Given the description of an element on the screen output the (x, y) to click on. 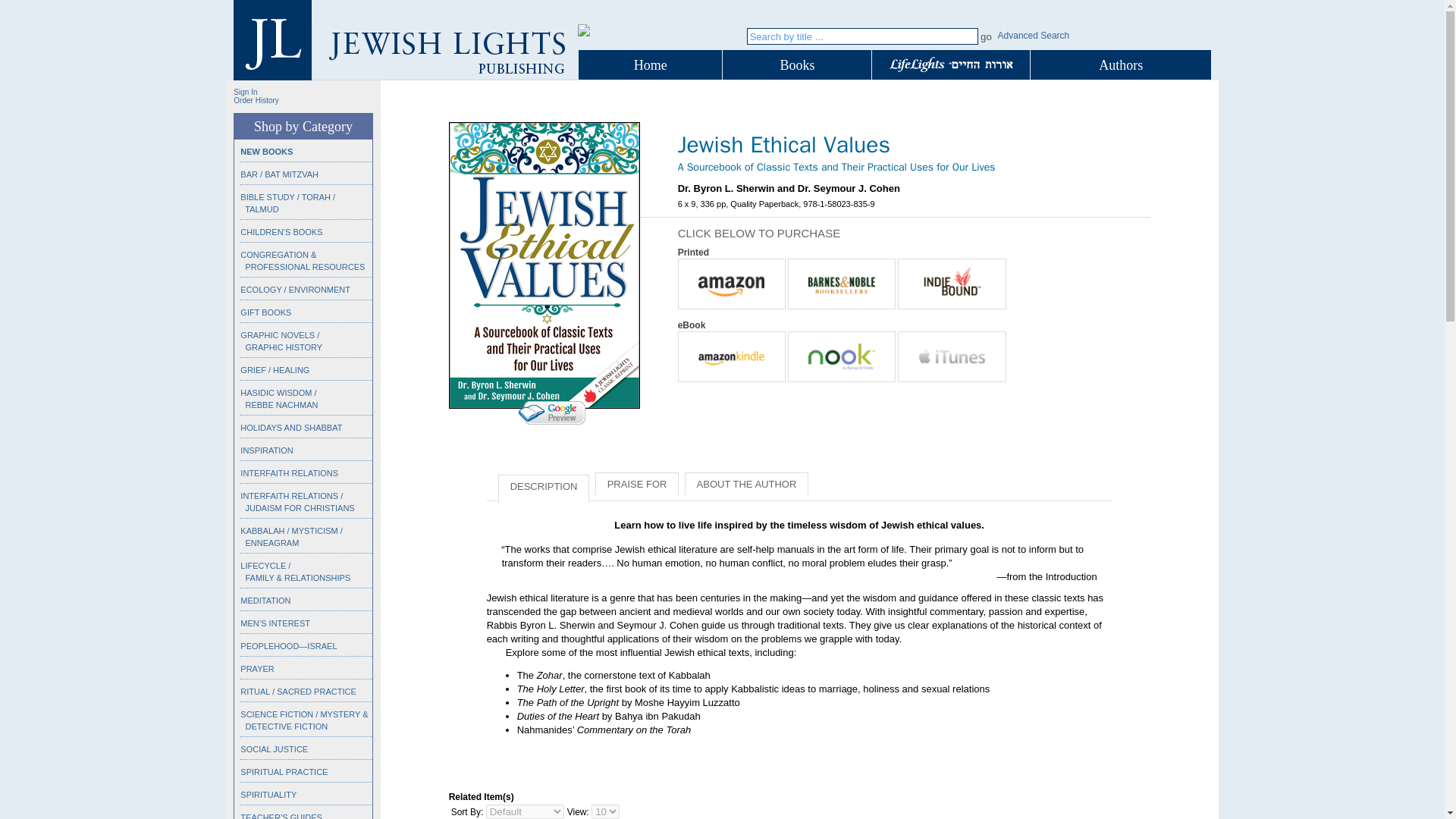
Authors (1120, 64)
Search by title ... (862, 36)
GIFT BOOKS (265, 311)
Advanced Search (1033, 35)
Sign In (244, 91)
INSPIRATION (266, 450)
PRAYER (256, 668)
SPIRITUAL PRACTICE (283, 771)
MEDITATION (264, 600)
Home (649, 64)
Order History (255, 100)
HOLIDAYS AND SHABBAT (291, 427)
Search by title ... (862, 36)
NEW BOOKS (266, 151)
Books (795, 64)
